Given the description of an element on the screen output the (x, y) to click on. 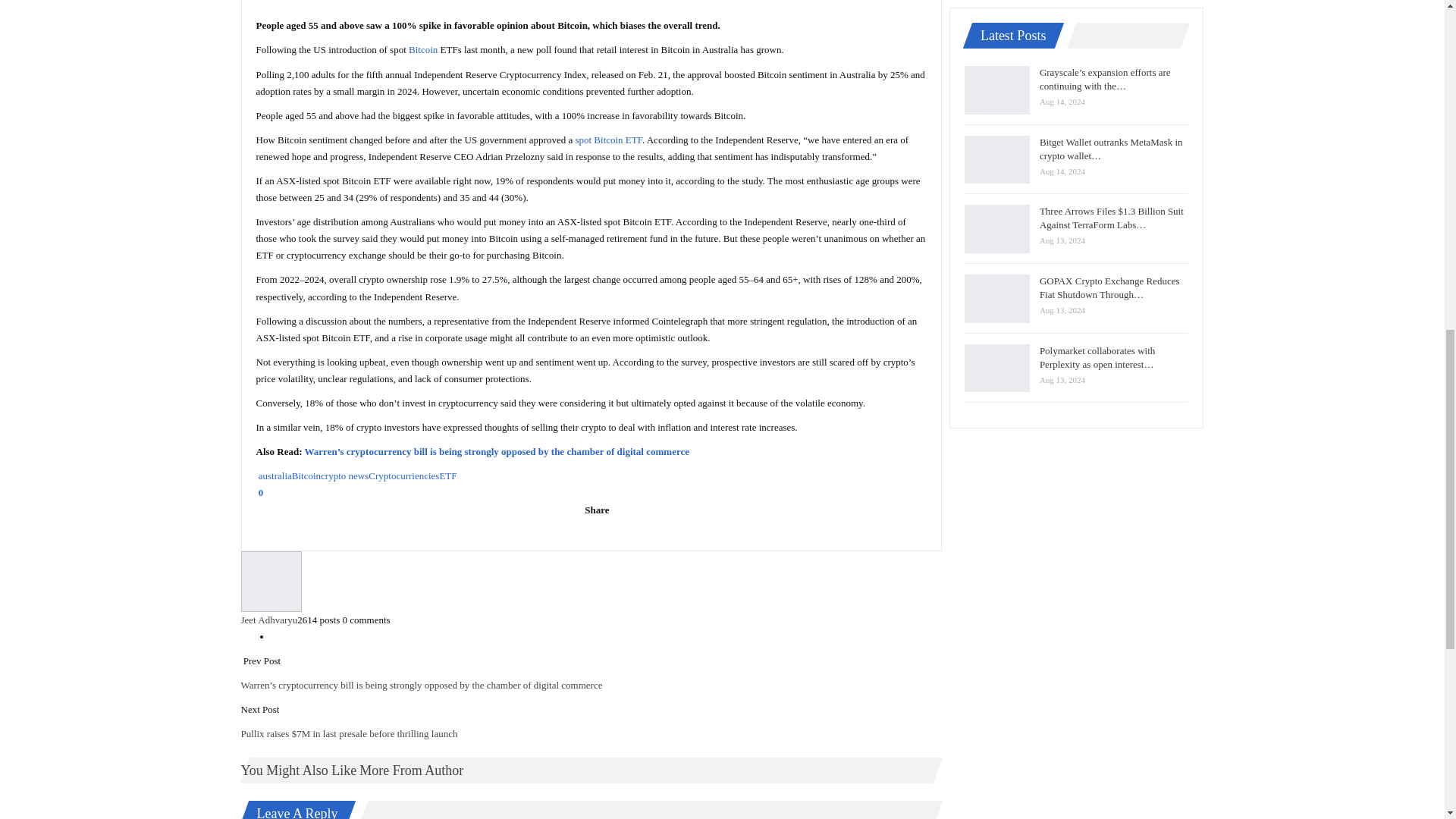
spot Bitcoin ETF (608, 139)
Bitcoin (423, 49)
Bitcoin (423, 49)
Browse Author Articles (591, 581)
